Given the description of an element on the screen output the (x, y) to click on. 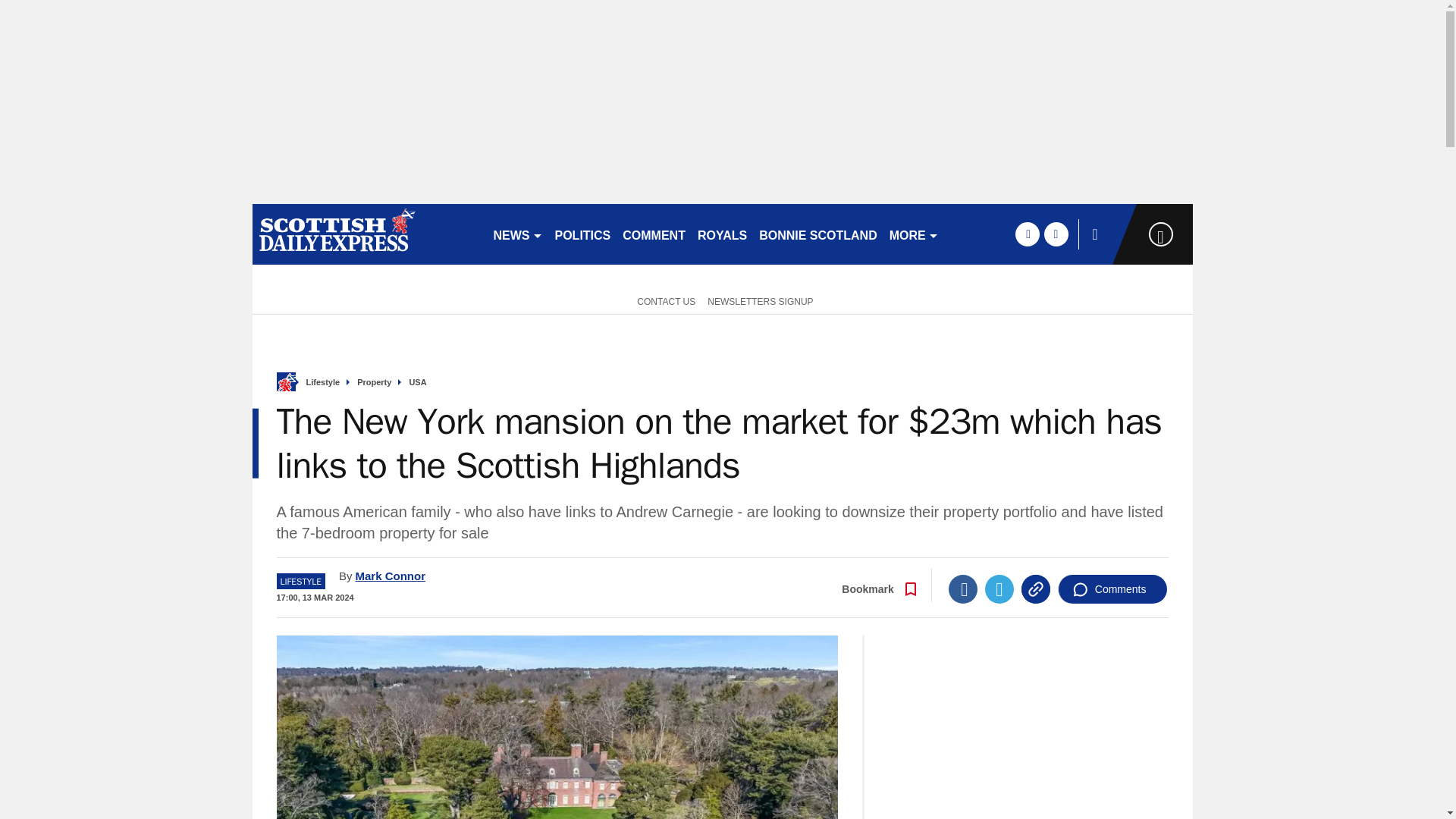
CONTACT US (662, 300)
NEWSLETTERS SIGNUP (759, 300)
BONNIE SCOTLAND (817, 233)
POLITICS (582, 233)
MORE (913, 233)
NEWS (517, 233)
Comments (1112, 588)
twitter (1055, 233)
COMMENT (653, 233)
Lifestyle (322, 382)
